Given the description of an element on the screen output the (x, y) to click on. 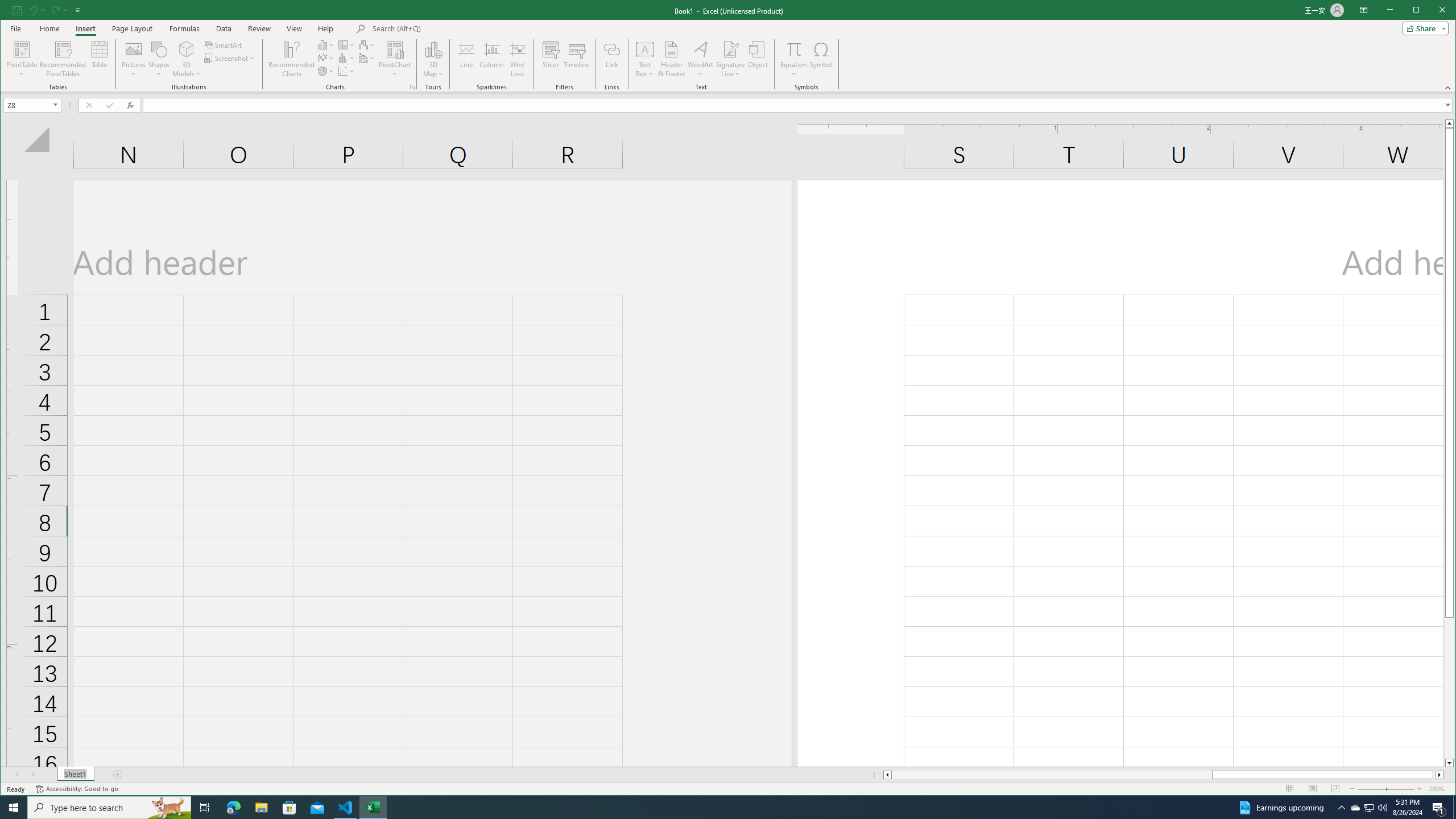
Table (99, 59)
Search highlights icon opens search home window (167, 807)
Shapes (159, 59)
Start (13, 807)
Type here to search (108, 807)
PivotTable (22, 48)
